Given the description of an element on the screen output the (x, y) to click on. 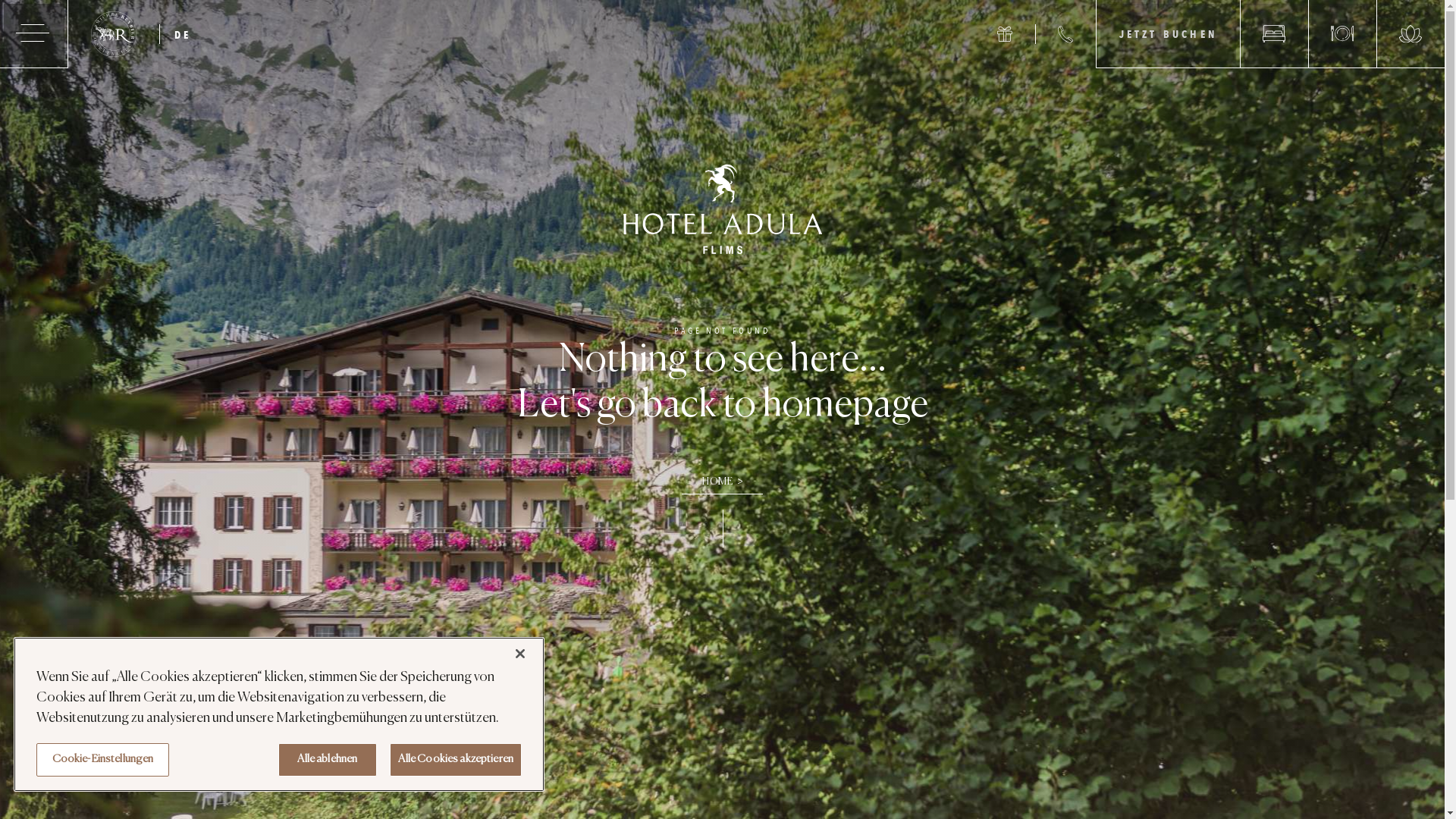
HOME Element type: text (722, 476)
Hotel Adula Element type: hover (722, 204)
Cookie-Einstellungen Element type: text (102, 759)
Alle ablehnen Element type: text (327, 759)
Alle Cookies akzeptieren Element type: text (455, 759)
JETZT BUCHEN Element type: text (1167, 34)
